Given the description of an element on the screen output the (x, y) to click on. 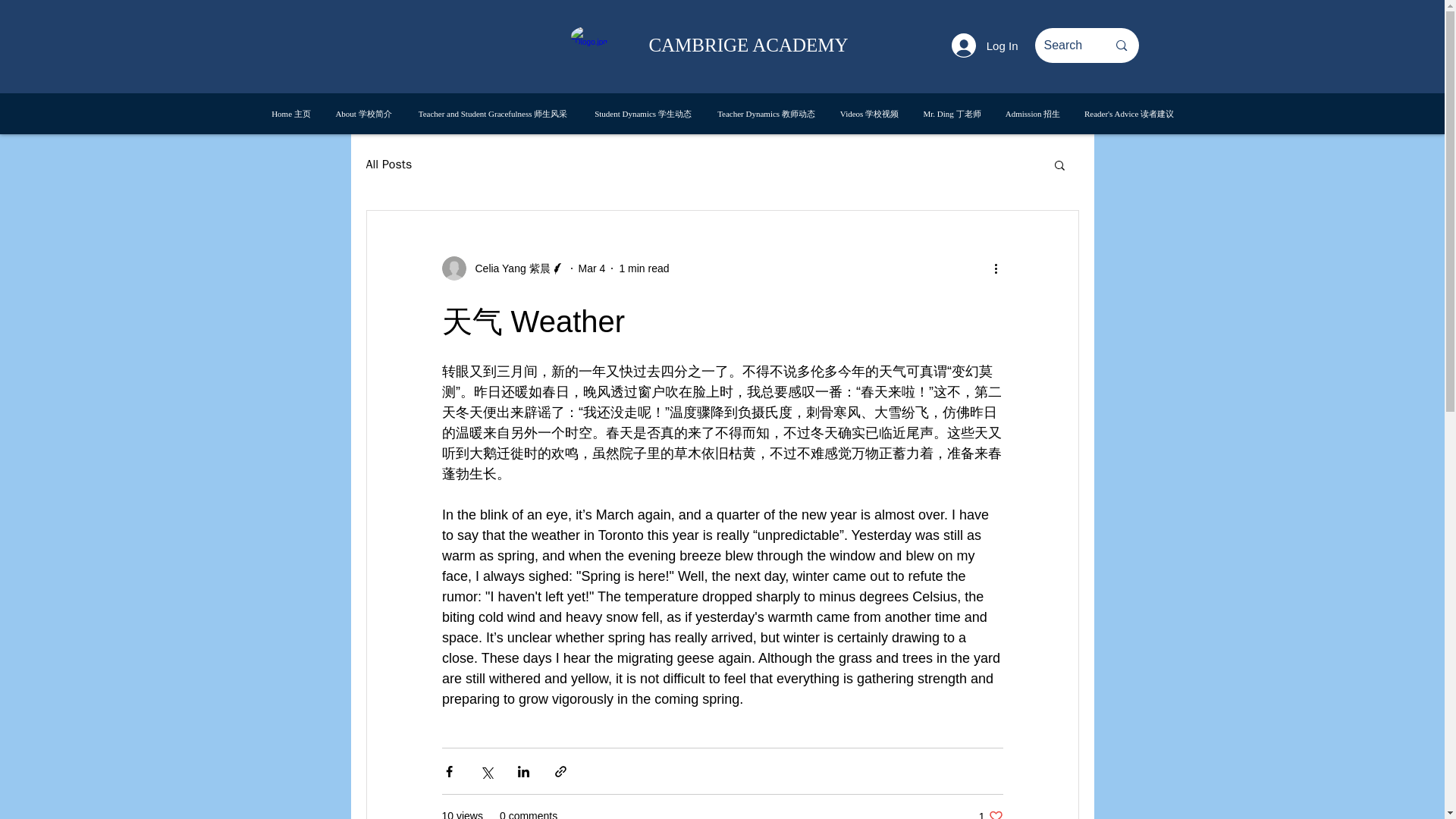
Mar 4 (591, 268)
All Posts (990, 814)
Log In (388, 163)
1 min read (984, 45)
